Given the description of an element on the screen output the (x, y) to click on. 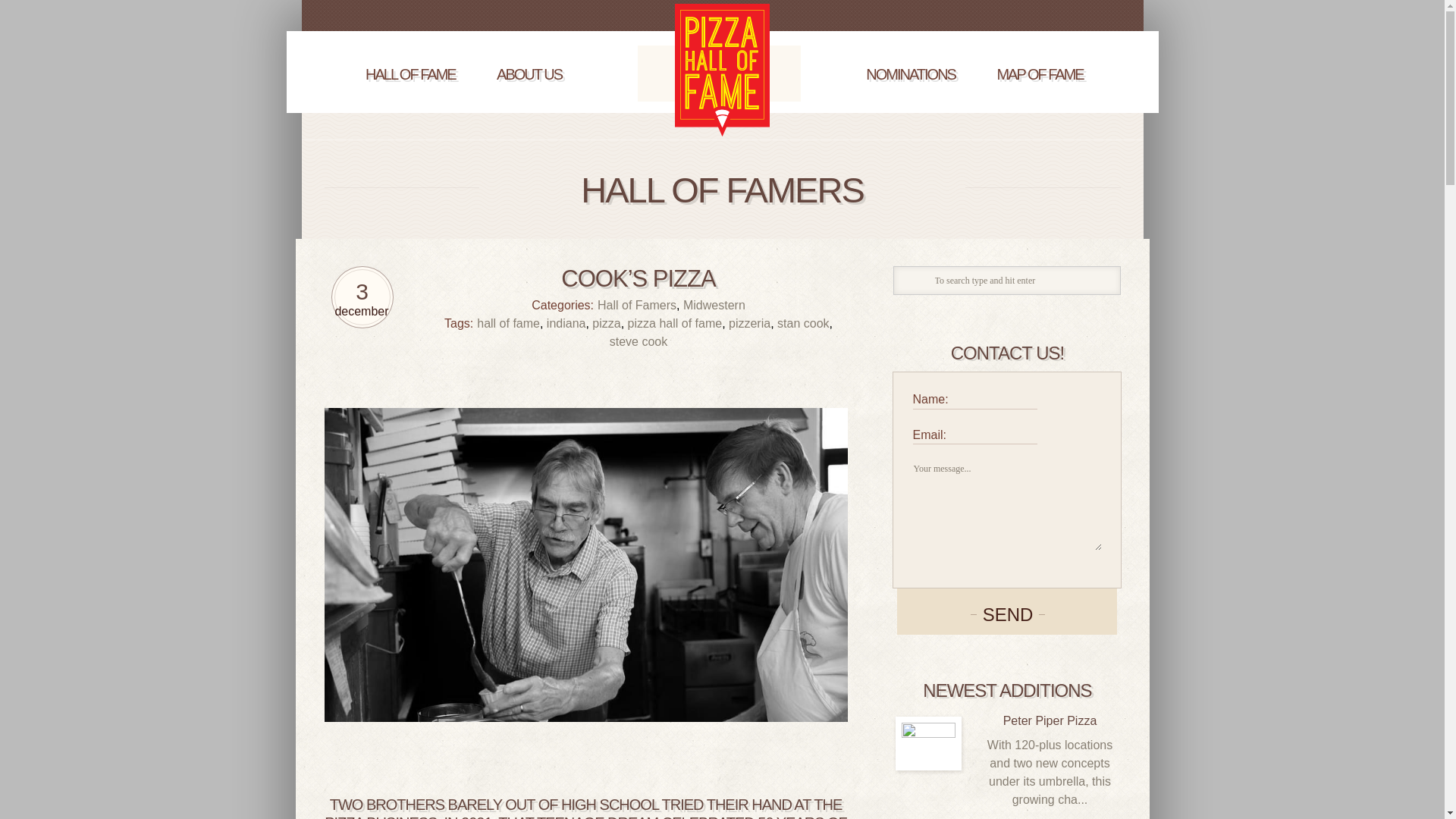
Search (912, 282)
MAP OF FAME (1039, 74)
ABOUT US (529, 74)
indiana (566, 323)
HALL OF FAME (410, 74)
Posts Category (410, 74)
pizza hall of fame (674, 323)
hall of fame (508, 323)
Hall of Famers (636, 305)
steve cook (638, 341)
Peter Piper Pizza (927, 743)
Midwestern (713, 305)
stan cook (802, 323)
Peter Piper Pizza (1050, 721)
pizzeria (749, 323)
